Given the description of an element on the screen output the (x, y) to click on. 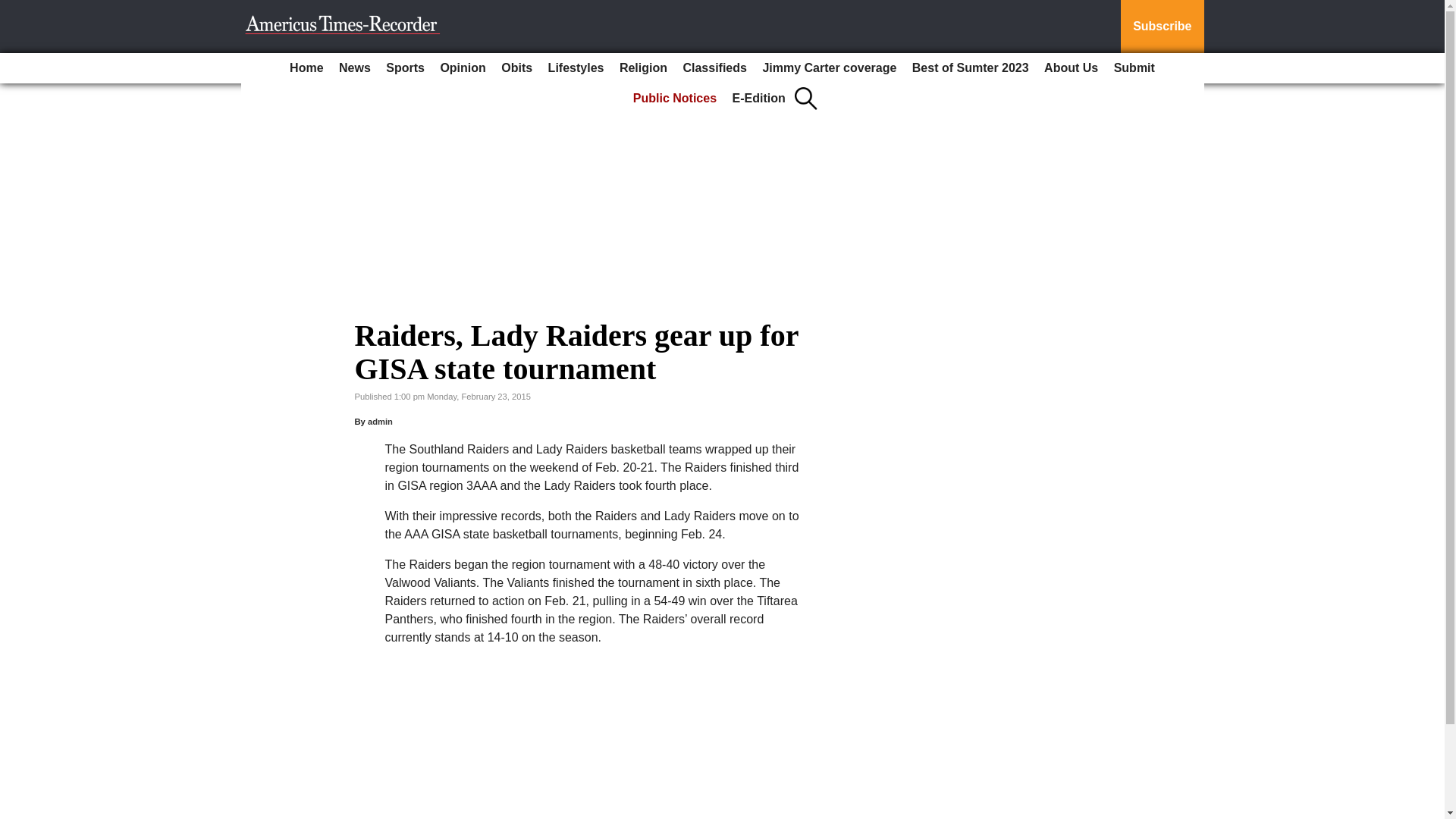
Home (306, 68)
Sports (405, 68)
admin (380, 420)
About Us (1070, 68)
Subscribe (1162, 26)
Jimmy Carter coverage (828, 68)
Lifestyles (575, 68)
Best of Sumter 2023 (970, 68)
Obits (516, 68)
Classifieds (714, 68)
